Given the description of an element on the screen output the (x, y) to click on. 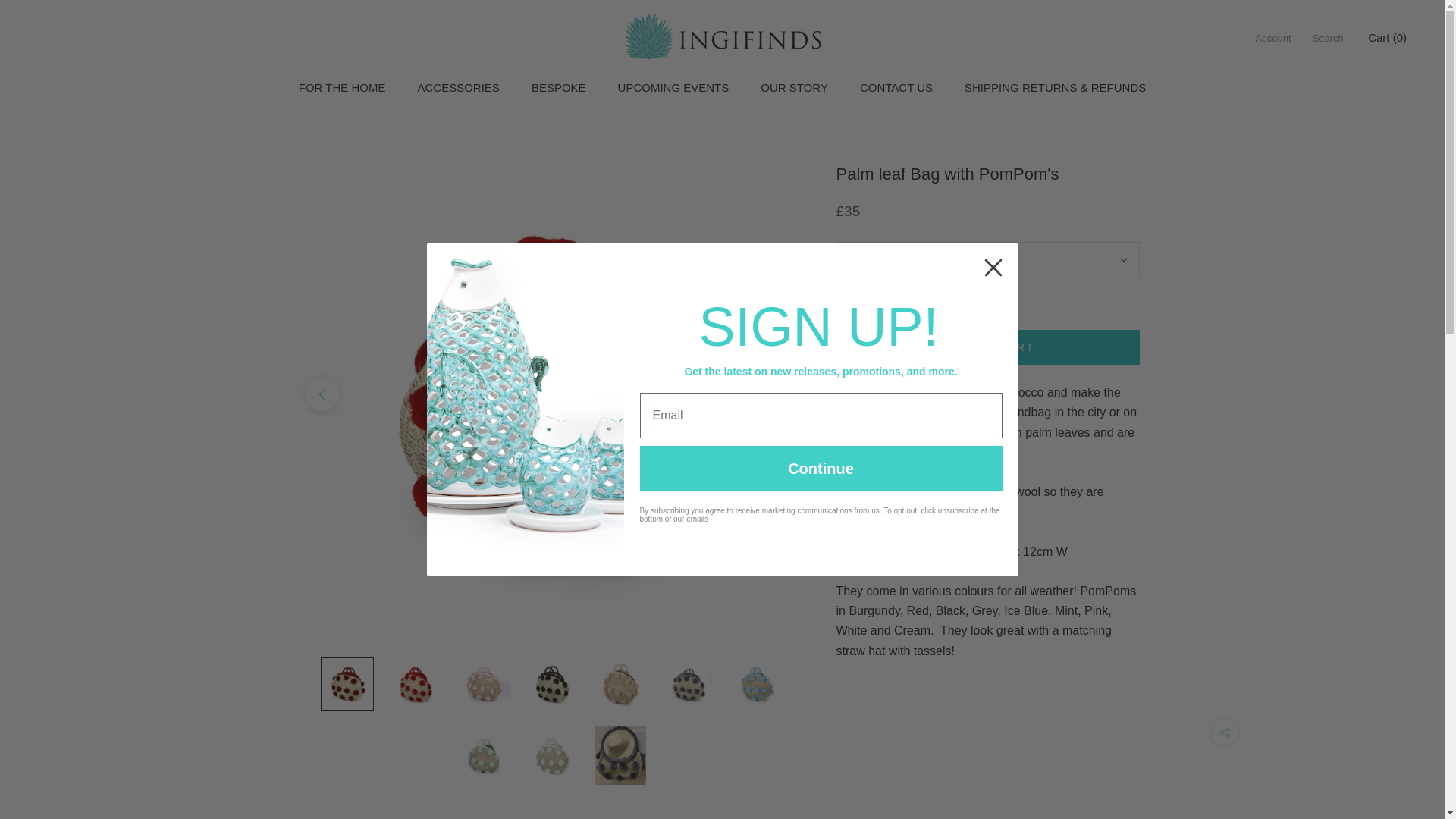
1 (888, 298)
